Given the description of an element on the screen output the (x, y) to click on. 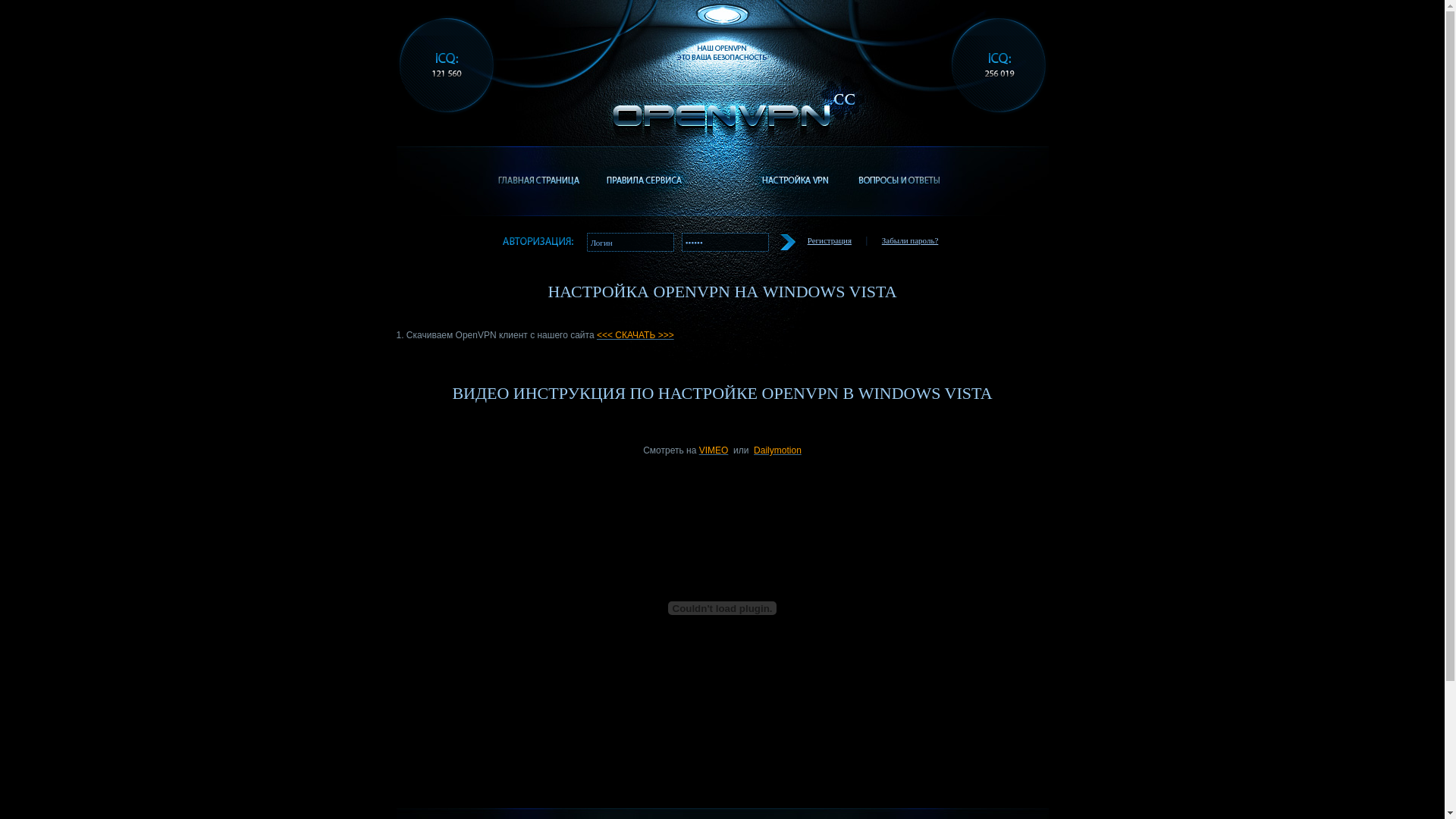
Dailymotion Element type: text (777, 450)
VIMEO Element type: text (713, 450)
OpenVPN.cc Element type: text (730, 105)
